Given the description of an element on the screen output the (x, y) to click on. 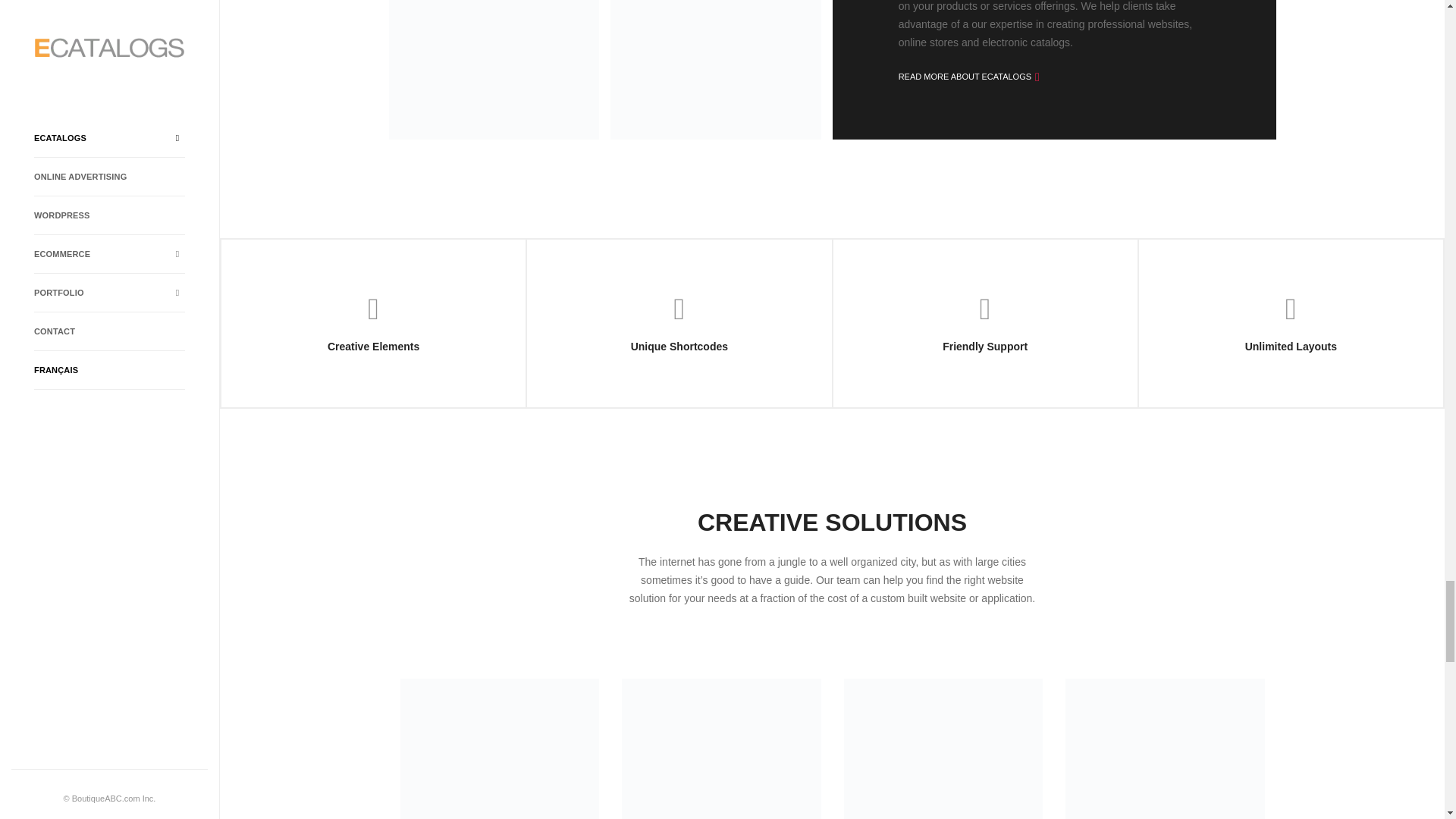
about-ecatalogues-1-min (493, 69)
about-ecatalogues-2-min (715, 69)
